Given the description of an element on the screen output the (x, y) to click on. 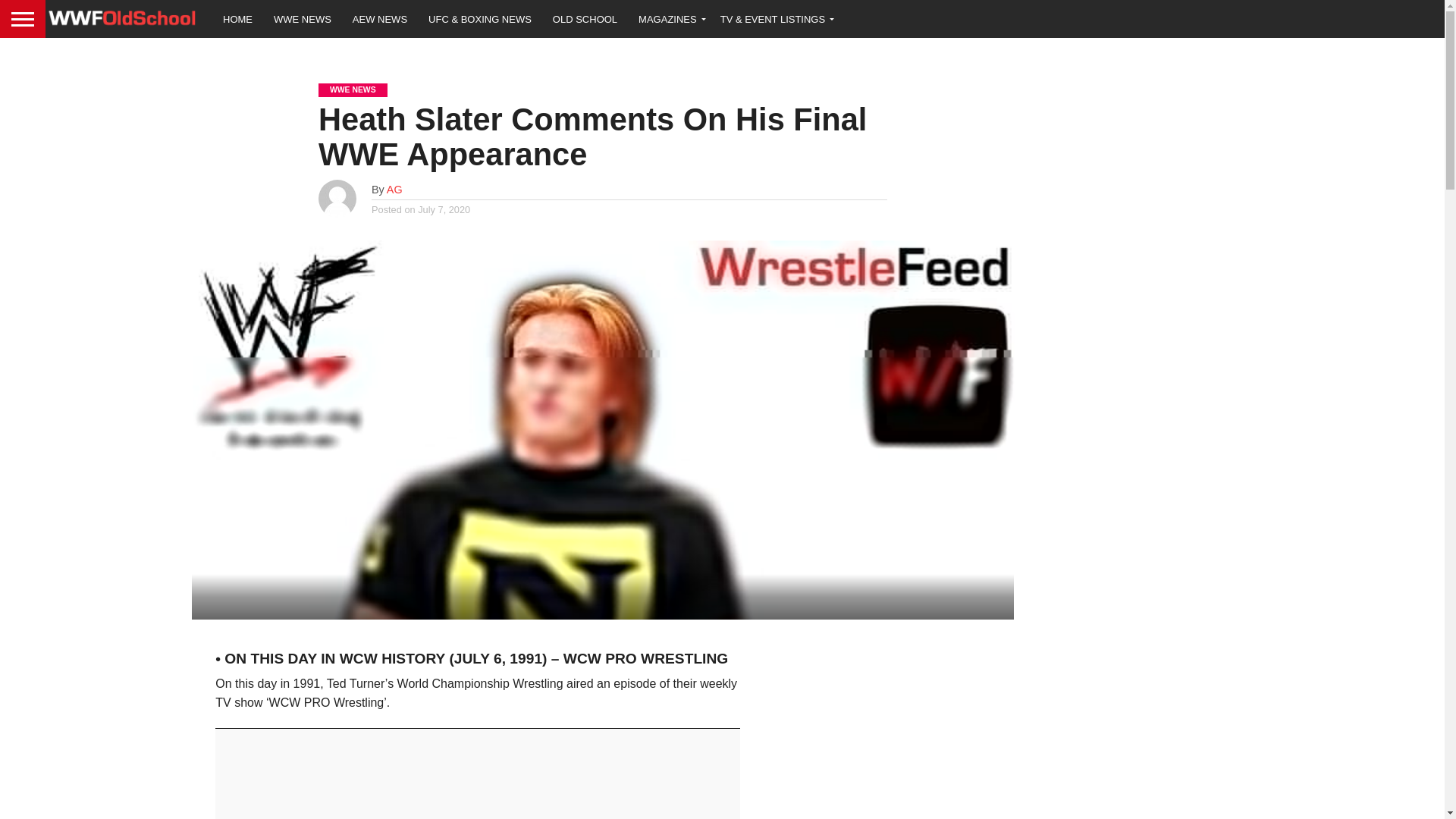
AEW NEWS (379, 18)
OLD SCHOOL (584, 18)
WWE NEWS (302, 18)
MAGAZINES (668, 18)
Posts by AG (395, 189)
HOME (237, 18)
